Given the description of an element on the screen output the (x, y) to click on. 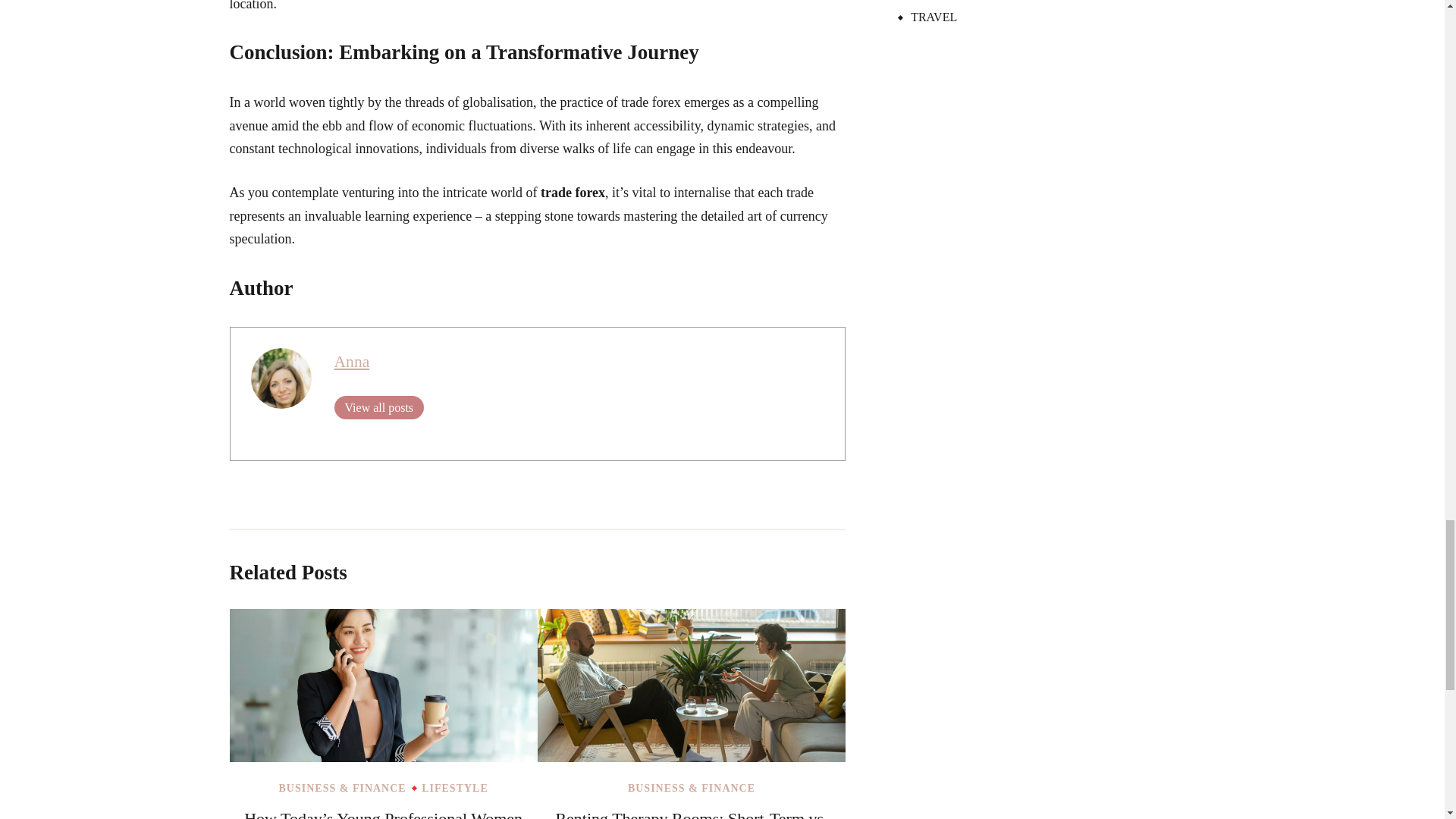
View all posts (378, 407)
Anna (351, 361)
View all posts (378, 407)
Renting Therapy Rooms: Short-Term vs. Long-Term Options (690, 814)
Anna (351, 361)
LIFESTYLE (455, 787)
